Given the description of an element on the screen output the (x, y) to click on. 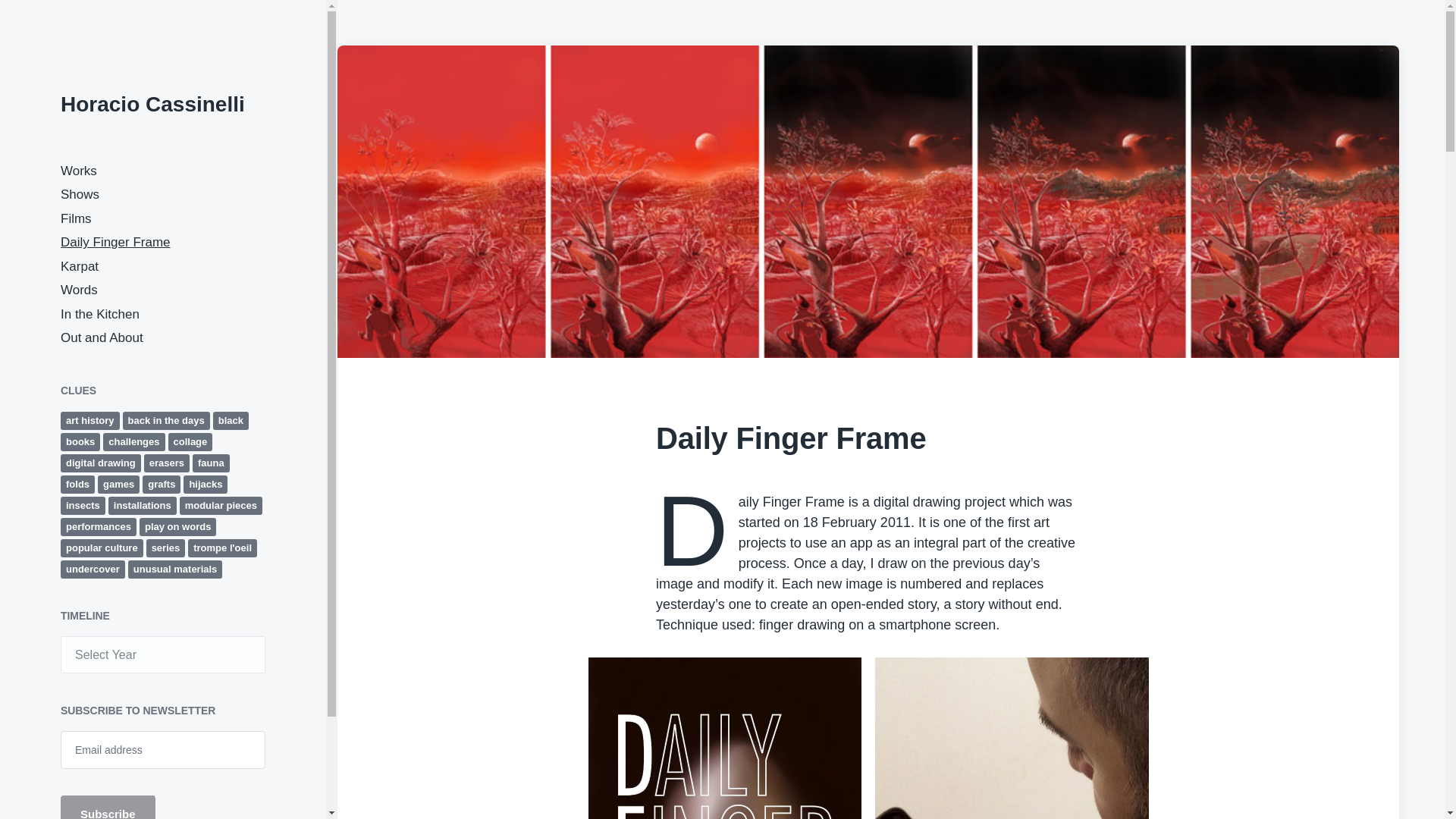
In the Kitchen (100, 314)
books (80, 441)
Subscribe (108, 807)
Films (76, 218)
games (118, 484)
Karpat (80, 266)
back in the days (165, 420)
insects (82, 505)
black (230, 420)
popular culture (101, 547)
